Given the description of an element on the screen output the (x, y) to click on. 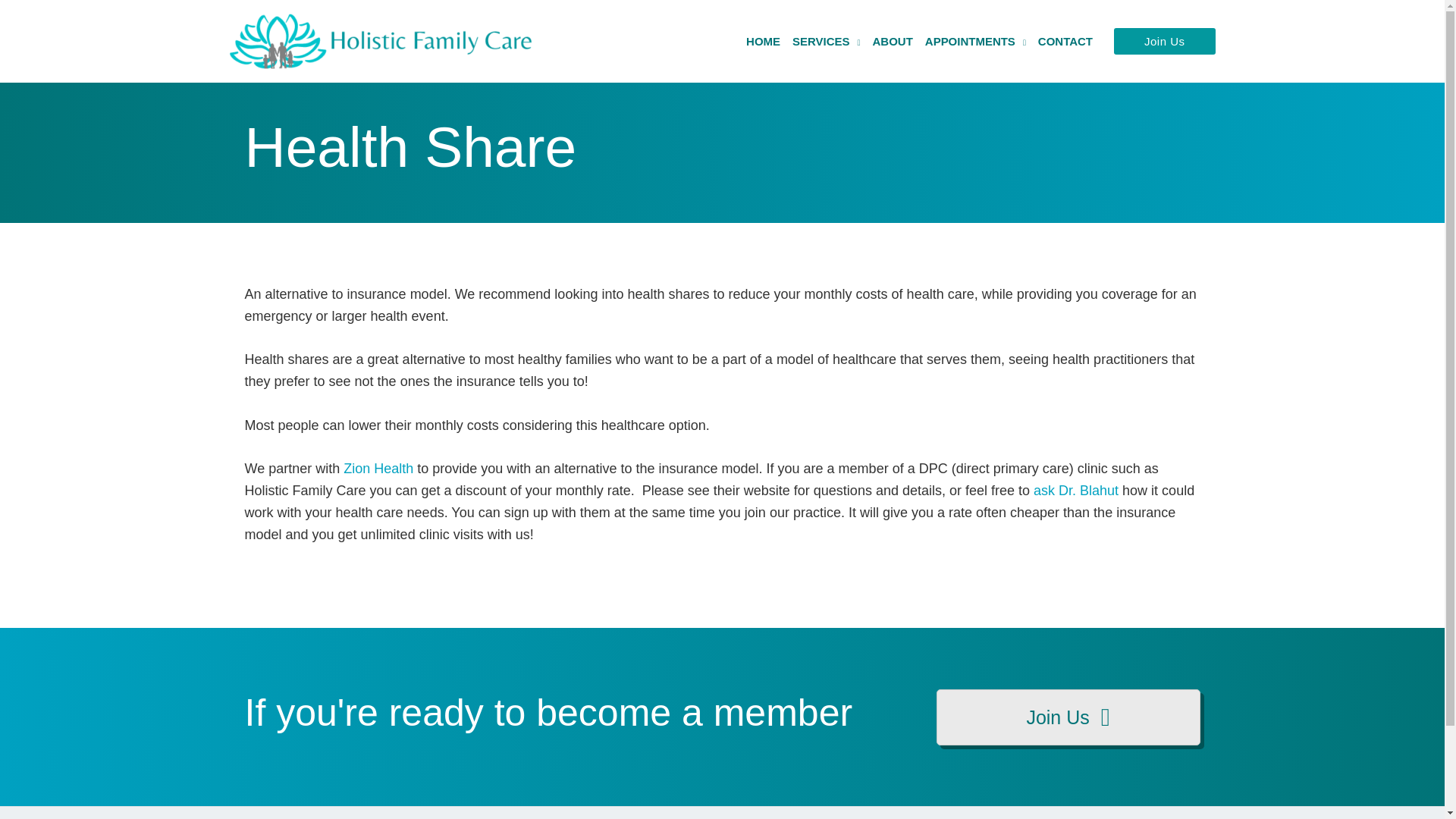
SERVICES (826, 41)
Join Us (1164, 40)
APPOINTMENTS (975, 41)
CONTACT (1065, 41)
ABOUT (892, 41)
